Given the description of an element on the screen output the (x, y) to click on. 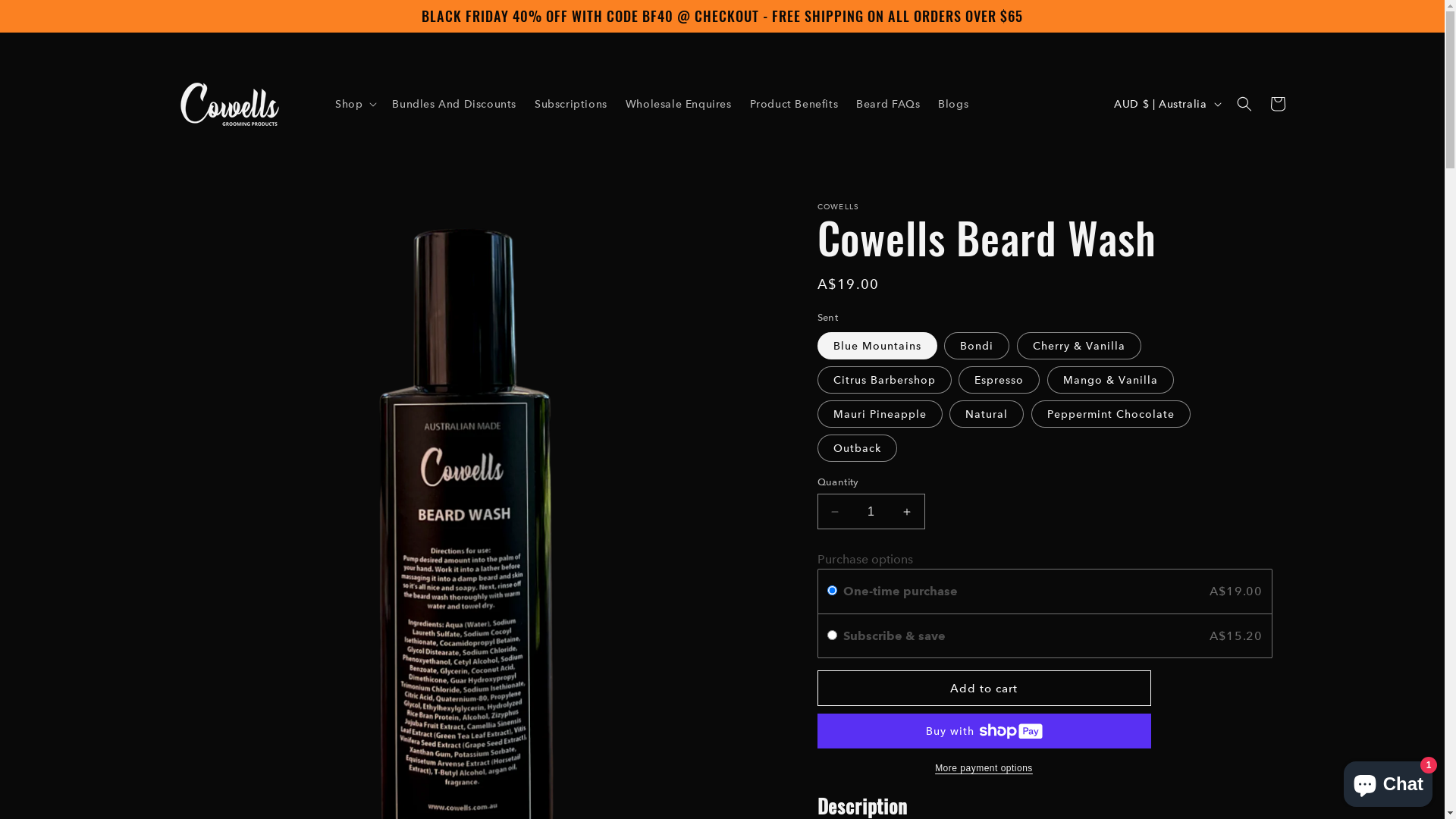
Subscriptions Element type: text (570, 103)
Cart Element type: text (1276, 103)
More payment options Element type: text (984, 767)
Increase quantity for Cowells Beard Wash Element type: text (907, 511)
Add to cart Element type: text (984, 688)
Product Benefits Element type: text (793, 103)
AUD $ | Australia Element type: text (1165, 103)
Decrease quantity for Cowells Beard Wash Element type: text (834, 511)
Wholesale Enquires Element type: text (678, 103)
Bundles And Discounts Element type: text (453, 103)
Shopify online store chat Element type: hover (1388, 780)
Skip to product information Element type: text (199, 219)
Beard FAQs Element type: text (887, 103)
Blogs Element type: text (952, 103)
